Given the description of an element on the screen output the (x, y) to click on. 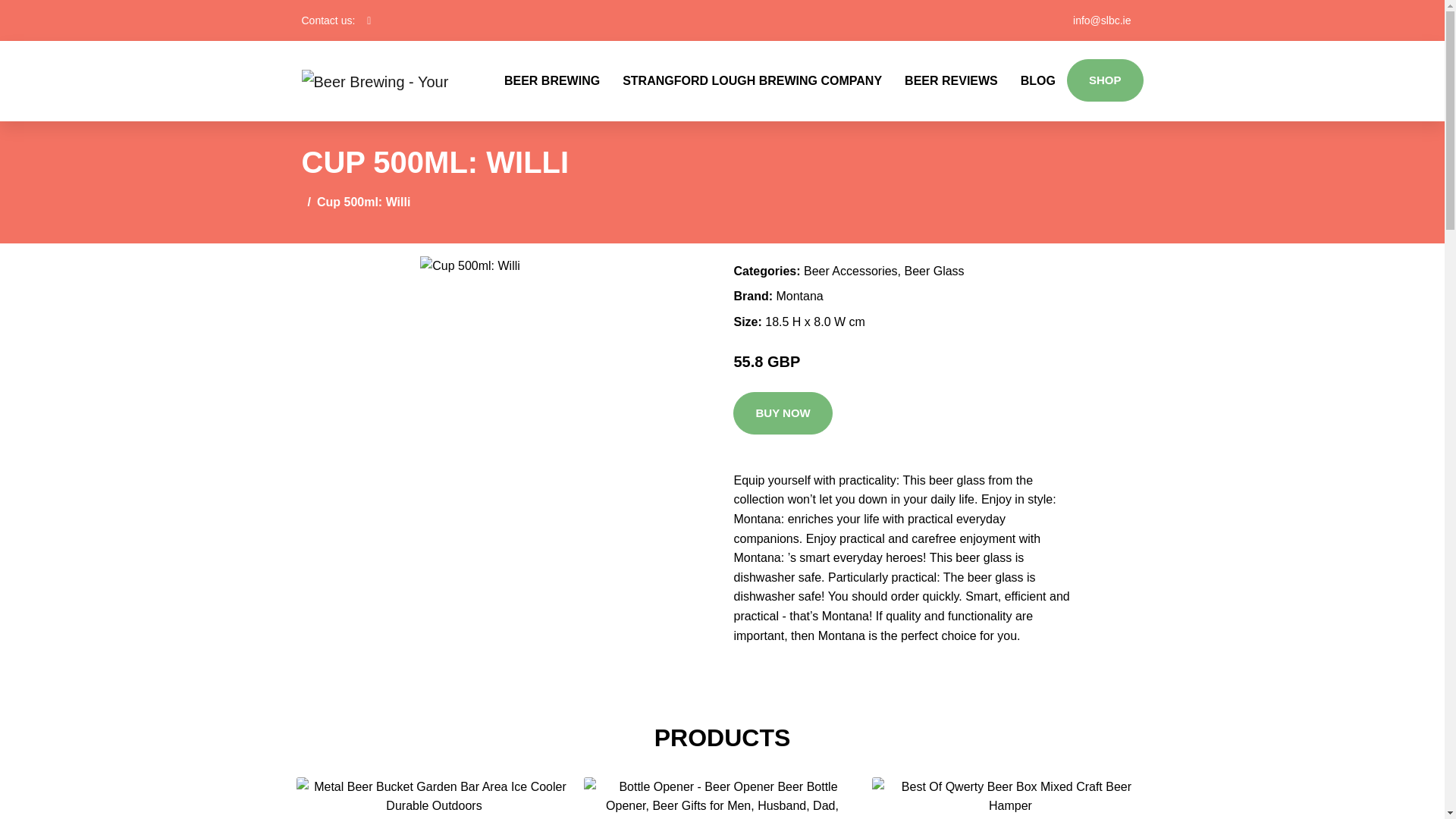
BUY NOW (782, 413)
Beer Accessories (850, 270)
BEER REVIEWS (951, 80)
SHOP (1104, 79)
STRANGFORD LOUGH BREWING COMPANY (752, 80)
BEER BREWING (552, 80)
Beer Glass (933, 270)
